Given the description of an element on the screen output the (x, y) to click on. 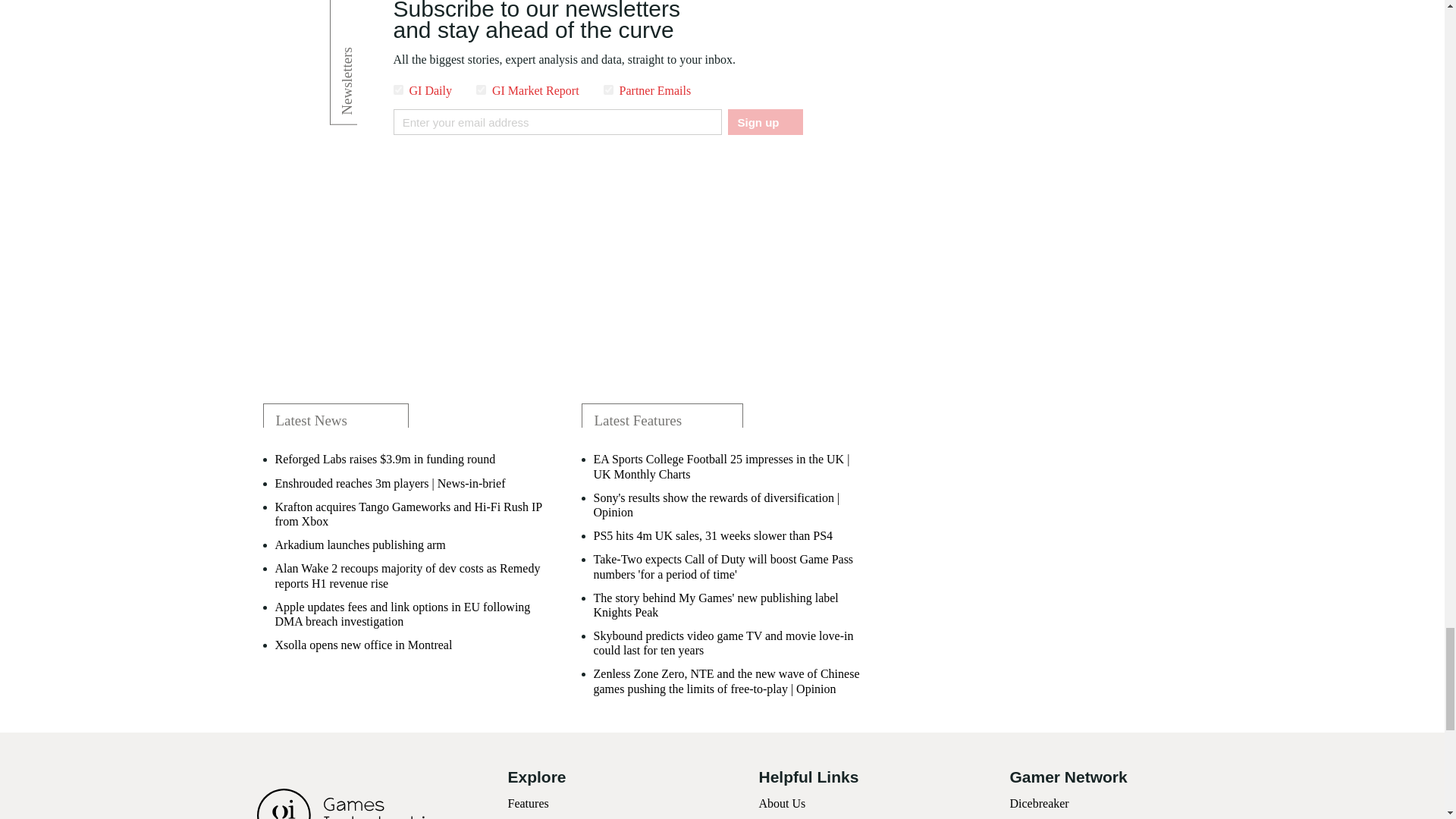
on (608, 90)
on (481, 90)
on (398, 90)
About Us (781, 802)
Features (528, 802)
